Given the description of an element on the screen output the (x, y) to click on. 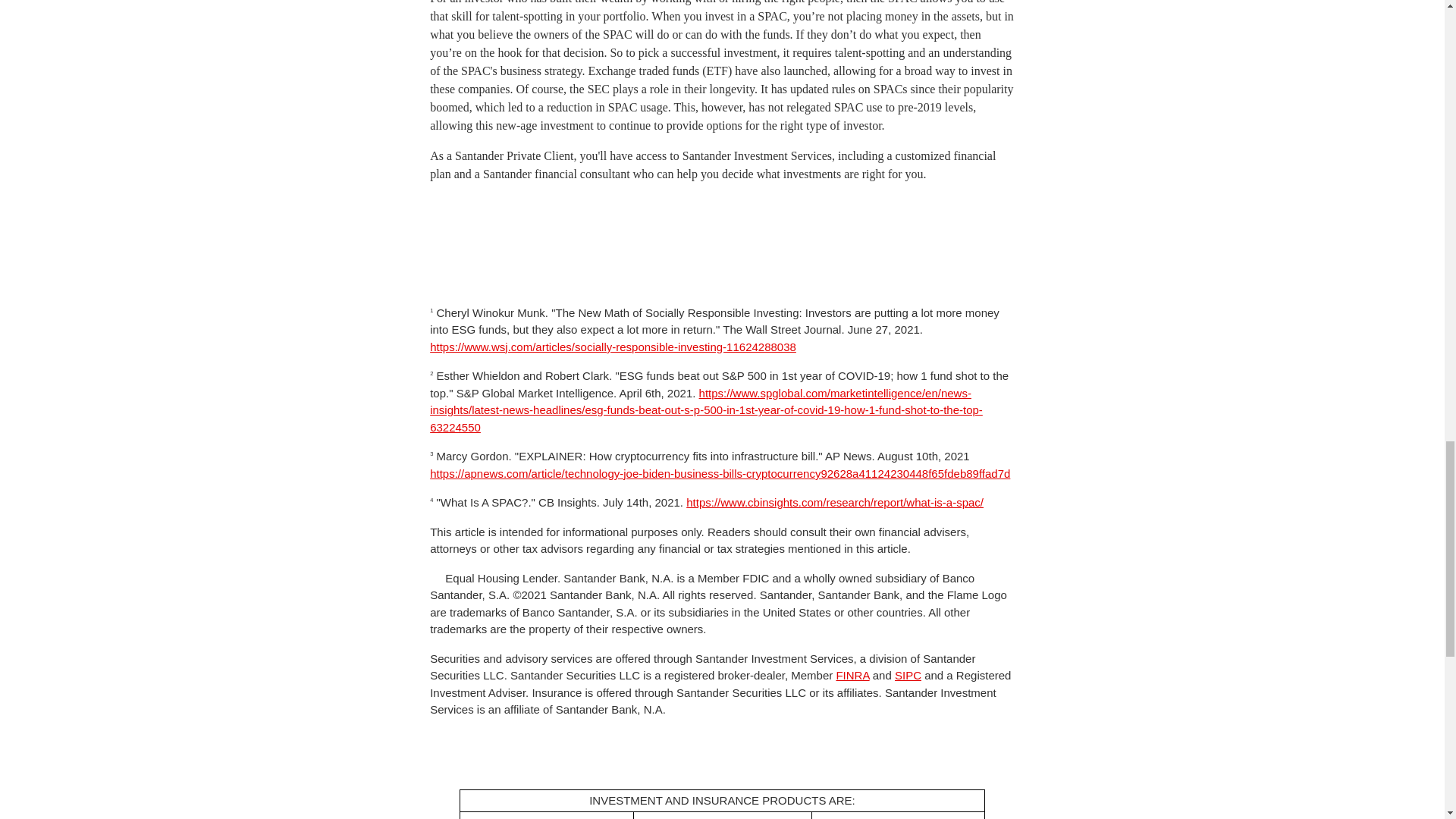
SIPC (908, 675)
FINRA (852, 675)
